Given the description of an element on the screen output the (x, y) to click on. 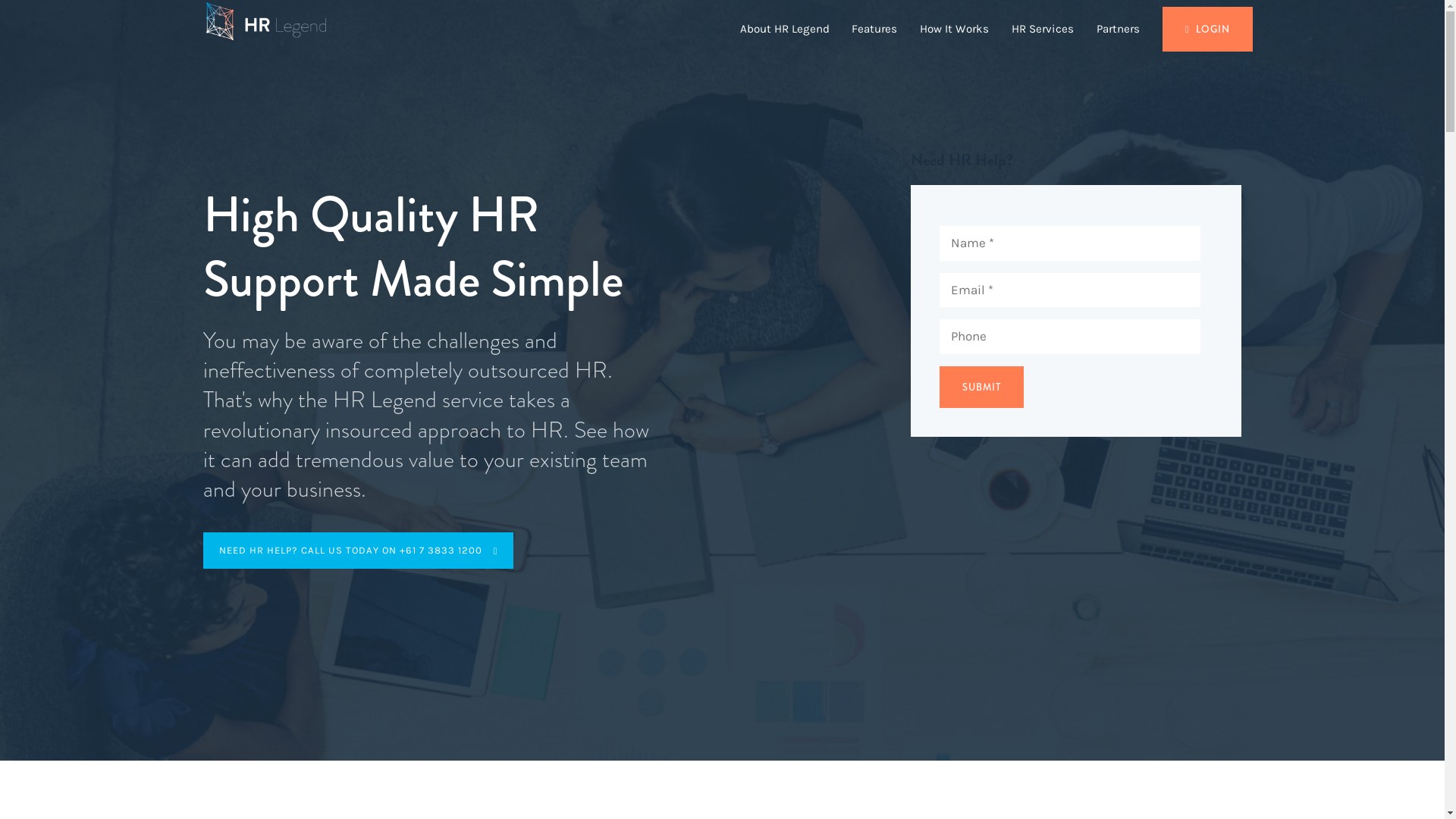
NEED HR HELP? CALL US TODAY ON +61 7 3833 1200 Element type: text (358, 550)
About HR Legend Element type: text (784, 28)
Features Element type: text (874, 28)
LOGIN Element type: text (1207, 28)
Partners Element type: text (1117, 28)
How It Works Element type: text (953, 28)
HR Services Element type: text (1042, 28)
Submit Element type: text (981, 386)
